Given the description of an element on the screen output the (x, y) to click on. 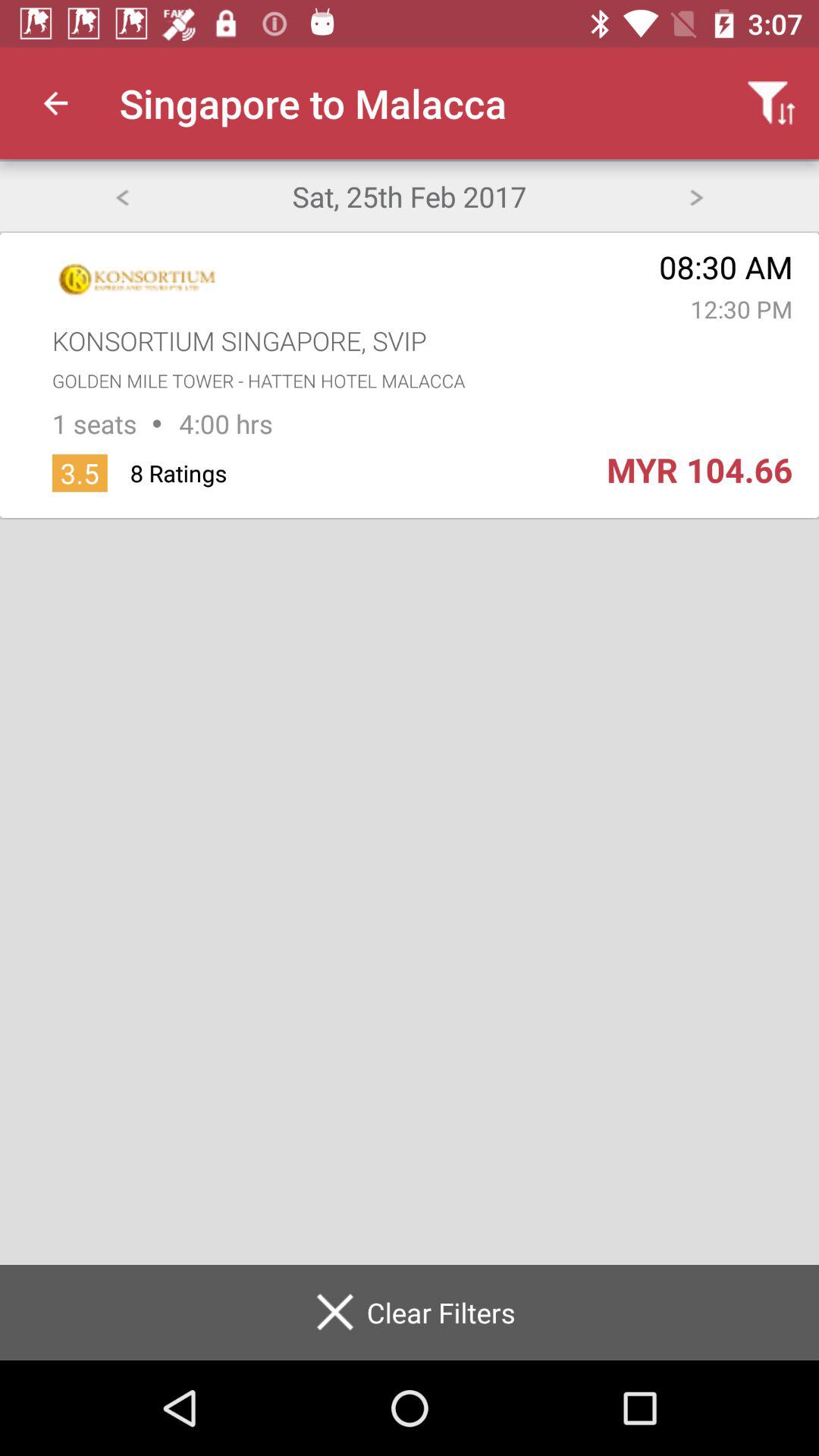
go to previous (121, 196)
